Given the description of an element on the screen output the (x, y) to click on. 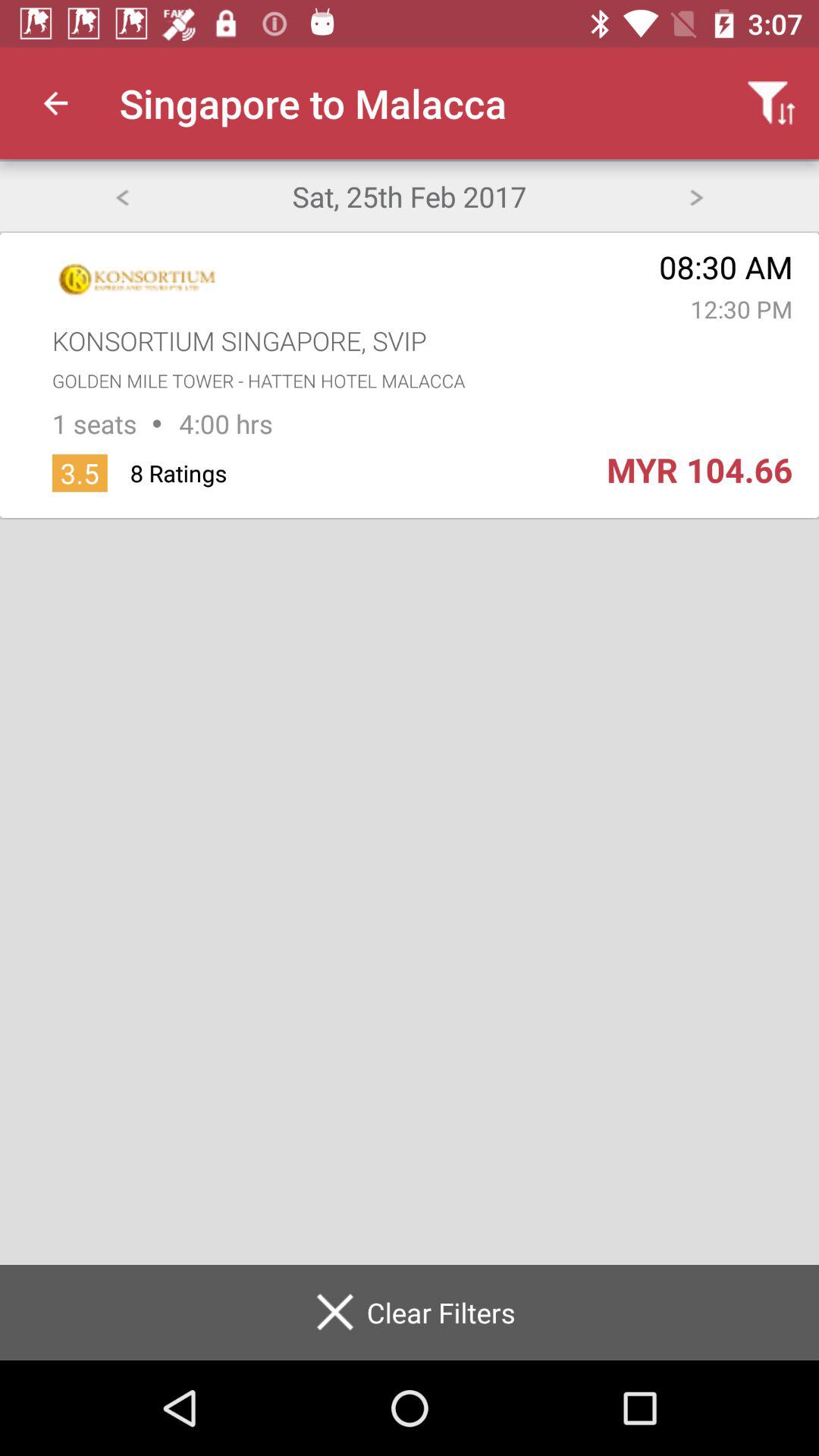
go to previous (121, 196)
